Given the description of an element on the screen output the (x, y) to click on. 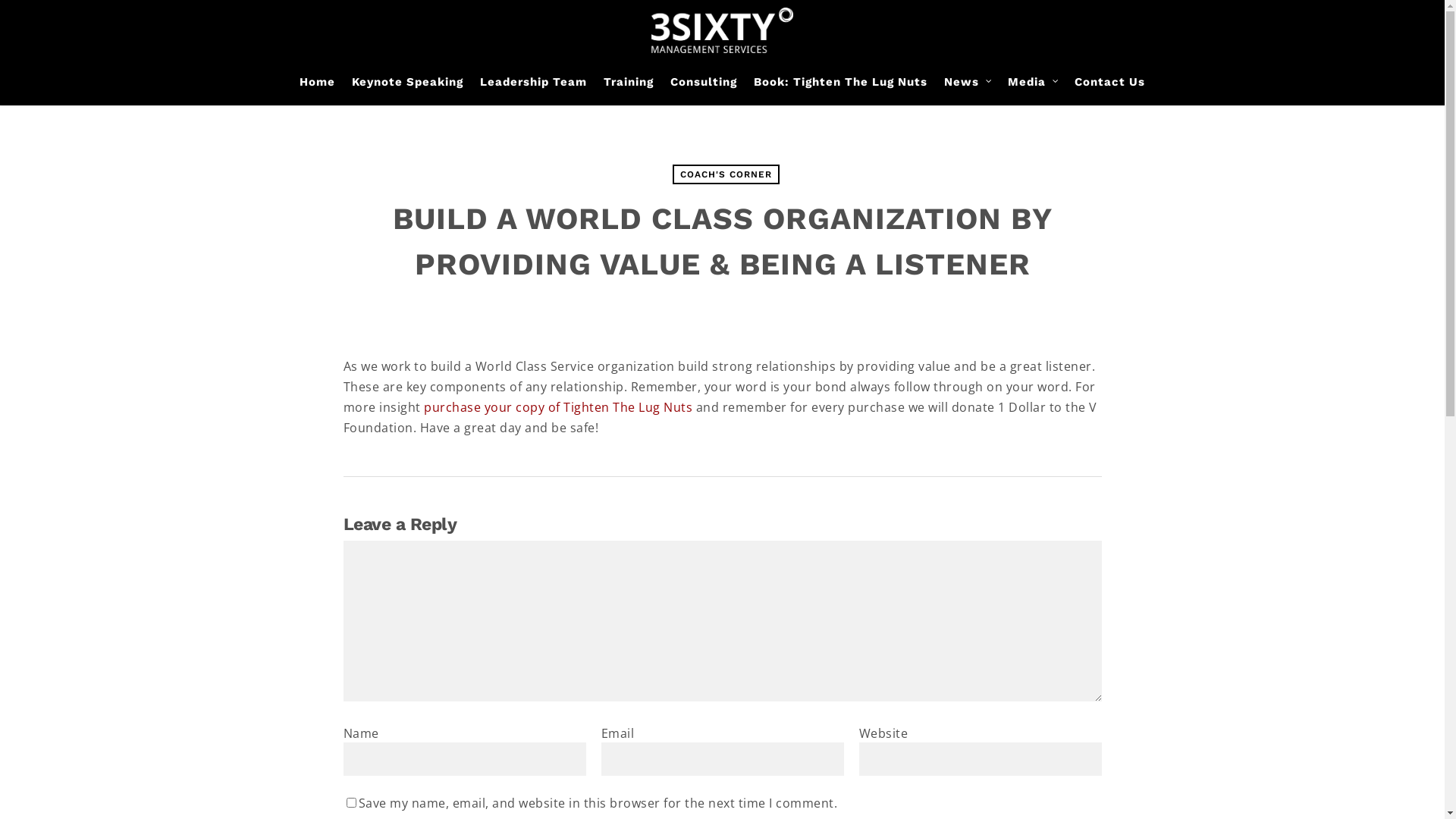
Training Element type: text (628, 89)
COACH'S CORNER Element type: text (724, 174)
purchase your copy of Tighten The Lug Nuts Element type: text (557, 406)
Leadership Team Element type: text (533, 89)
Book: Tighten The Lug Nuts Element type: text (840, 89)
Contact Us Element type: text (1109, 89)
Home Element type: text (316, 89)
Keynote Speaking Element type: text (407, 89)
News Element type: text (967, 89)
Media Element type: text (1032, 89)
Consulting Element type: text (703, 89)
